Given the description of an element on the screen output the (x, y) to click on. 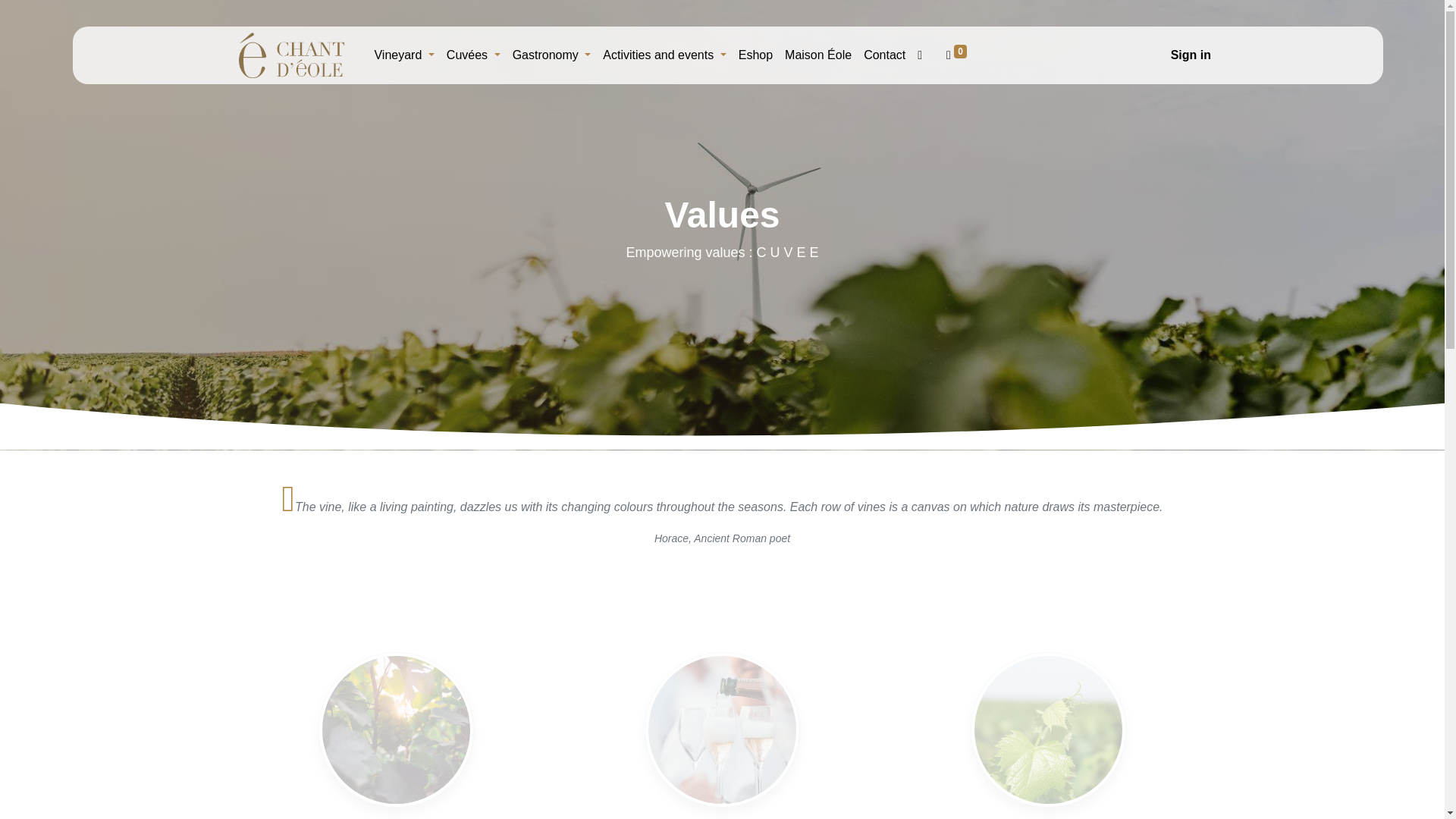
Sign in (1190, 55)
Eshop (755, 55)
Vineyard (403, 55)
Gastronomy (551, 55)
Chant d'Eole (293, 54)
Activities and events (664, 55)
0 (956, 55)
Contact (884, 55)
